Given the description of an element on the screen output the (x, y) to click on. 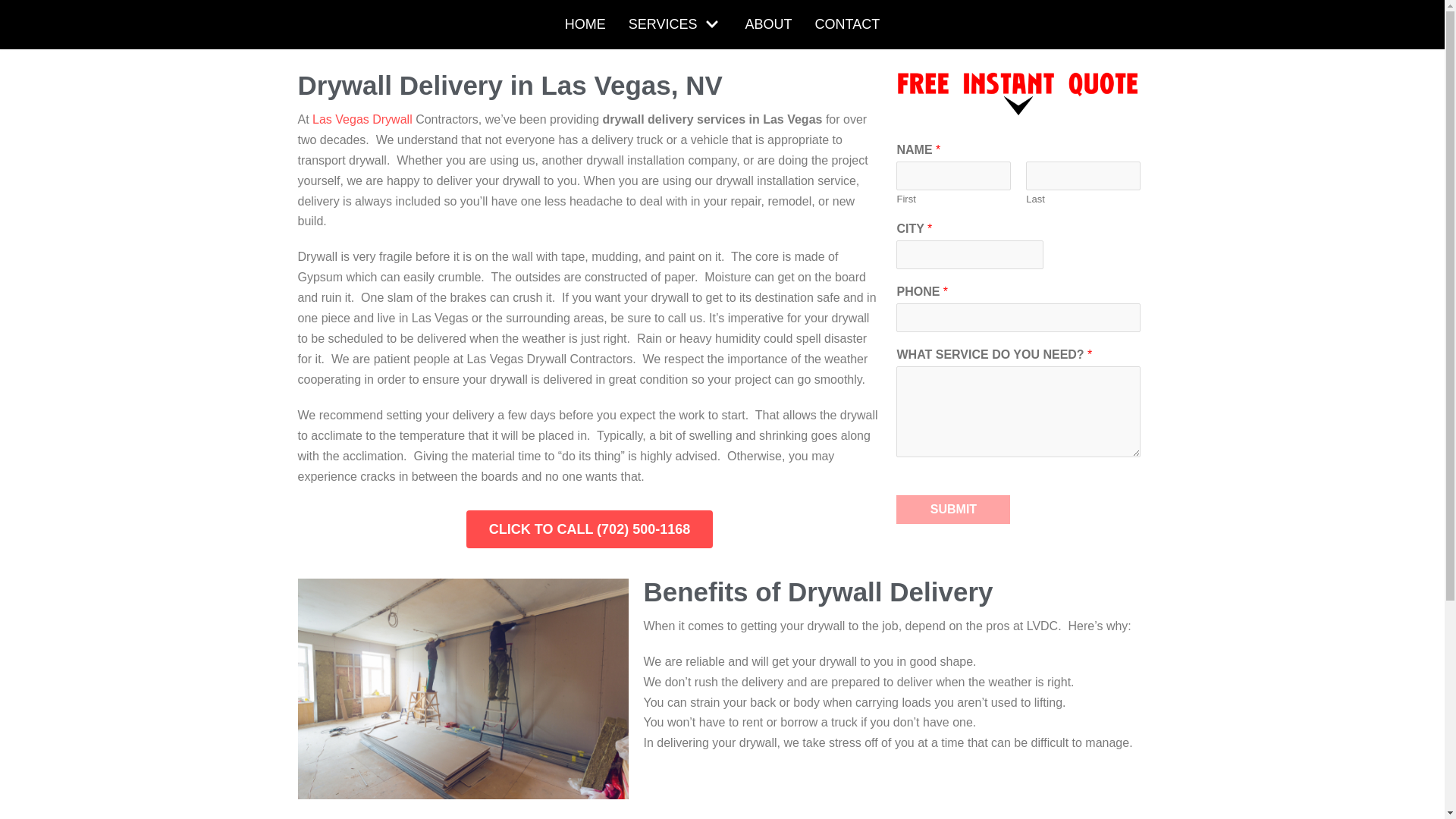
SERVICES (675, 24)
ABOUT (768, 24)
HOME (584, 24)
CONTACT (847, 24)
Skip to content (15, 7)
Las Vegas Drywall (362, 119)
